Given the description of an element on the screen output the (x, y) to click on. 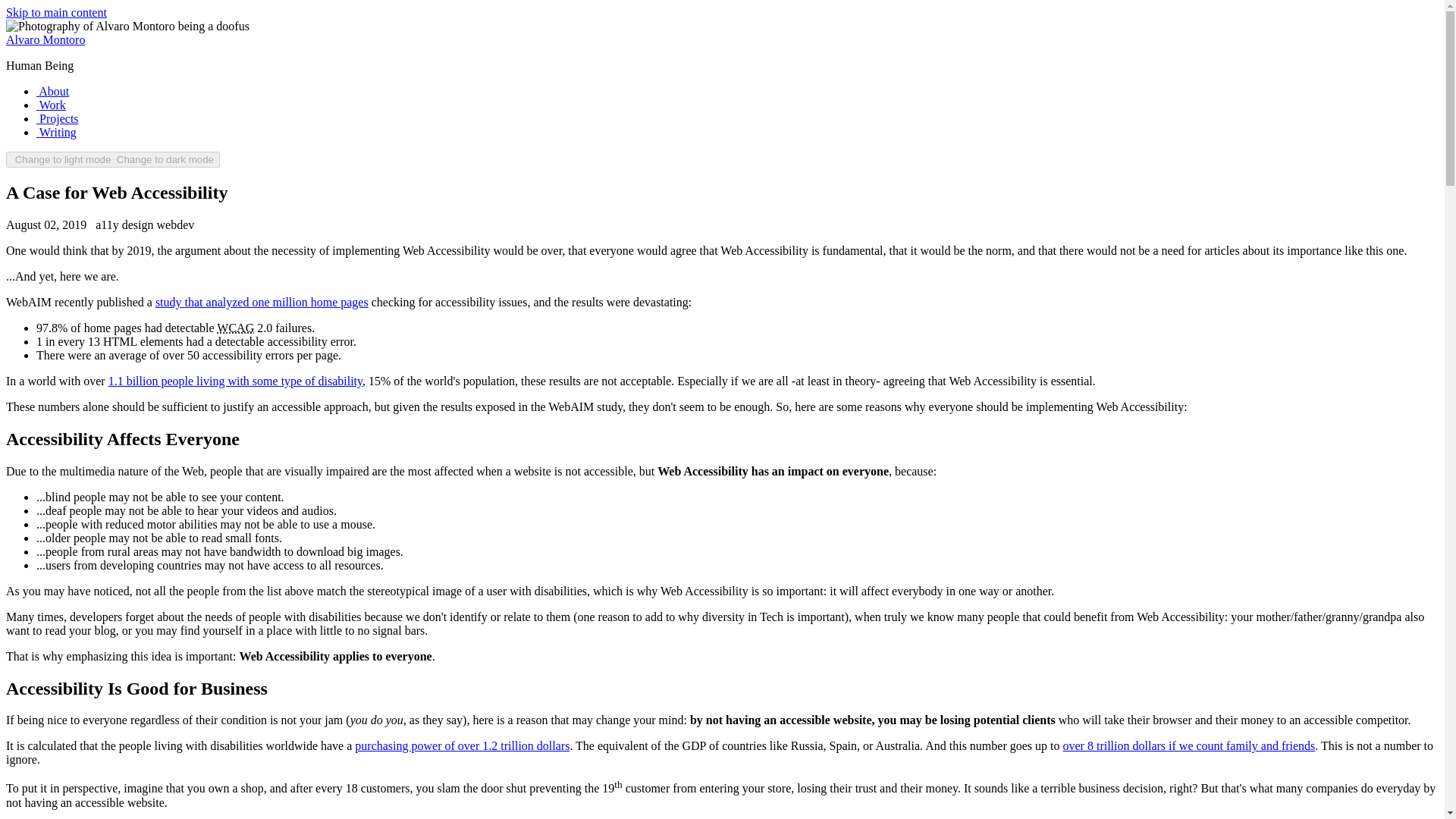
Web Content Accessibility Guidelines (234, 327)
over 8 trillion dollars if we count family and friends (1189, 745)
study that analyzed one million home pages (261, 301)
Writing (56, 132)
About (52, 91)
purchasing power of over 1.2 trillion dollars (462, 745)
Work (50, 104)
Alvaro Montoro (44, 39)
Change to light mode Change to dark mode (112, 159)
Projects (57, 118)
